Given the description of an element on the screen output the (x, y) to click on. 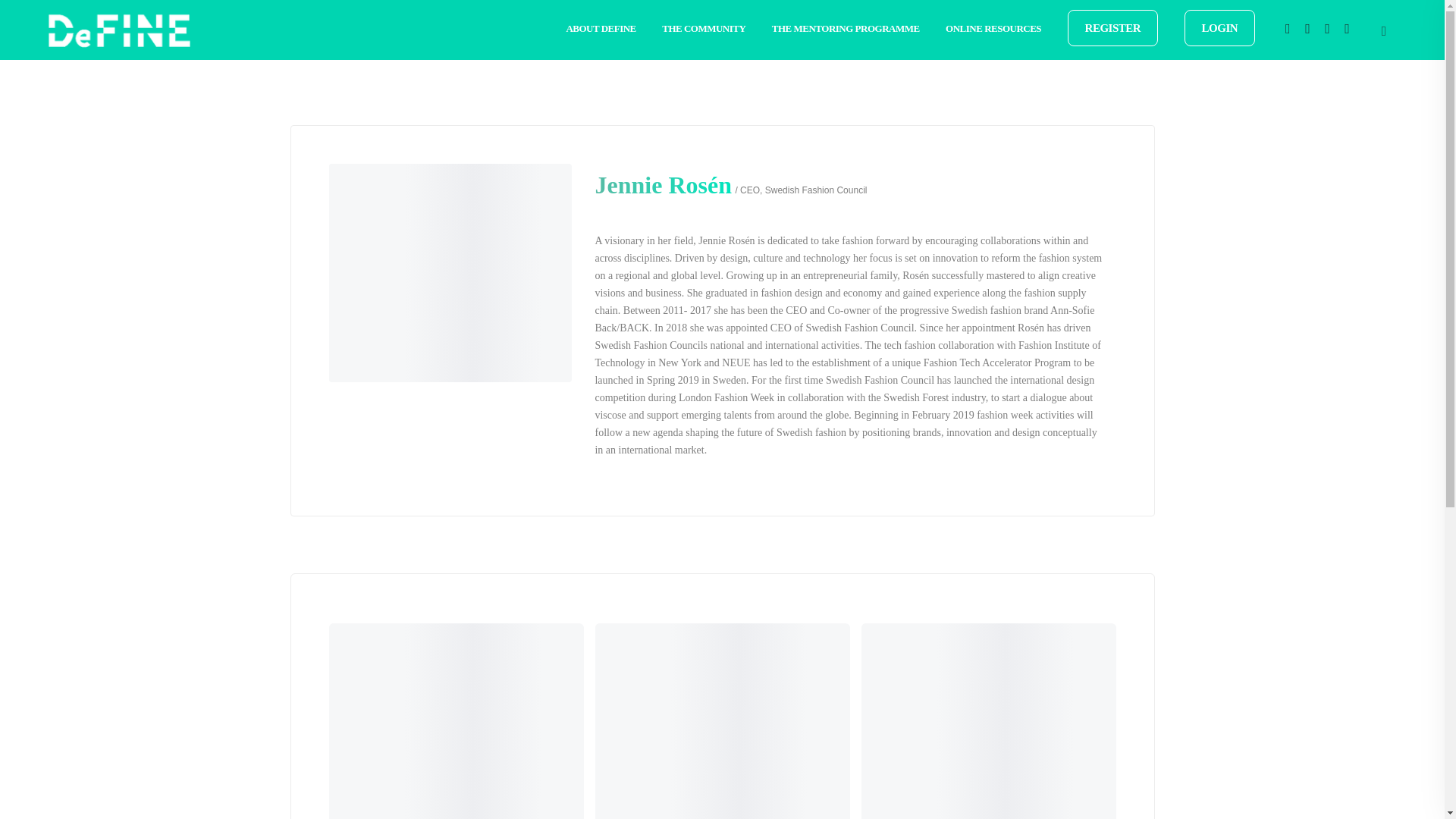
Search (16, 15)
ONLINE RESOURCES (992, 28)
facebook (1287, 30)
LOGIN (1220, 27)
REGISTER (1112, 27)
linkedin (1326, 30)
THE MENTORING PROGRAMME (845, 28)
THE COMMUNITY (703, 28)
ABOUT DEFINE (600, 28)
instagram (1346, 30)
twitter (1307, 30)
